Given the description of an element on the screen output the (x, y) to click on. 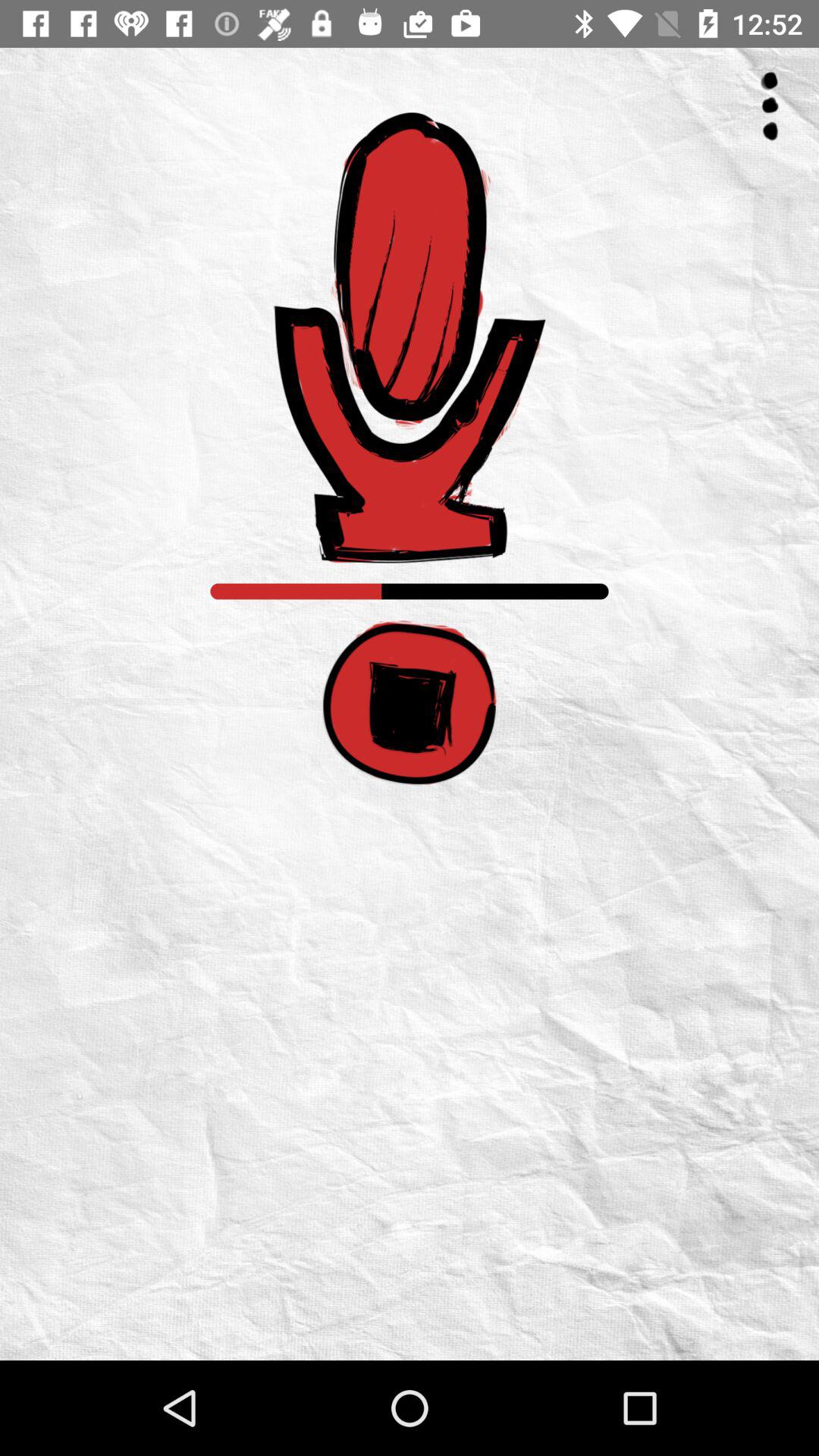
settings (769, 106)
